Given the description of an element on the screen output the (x, y) to click on. 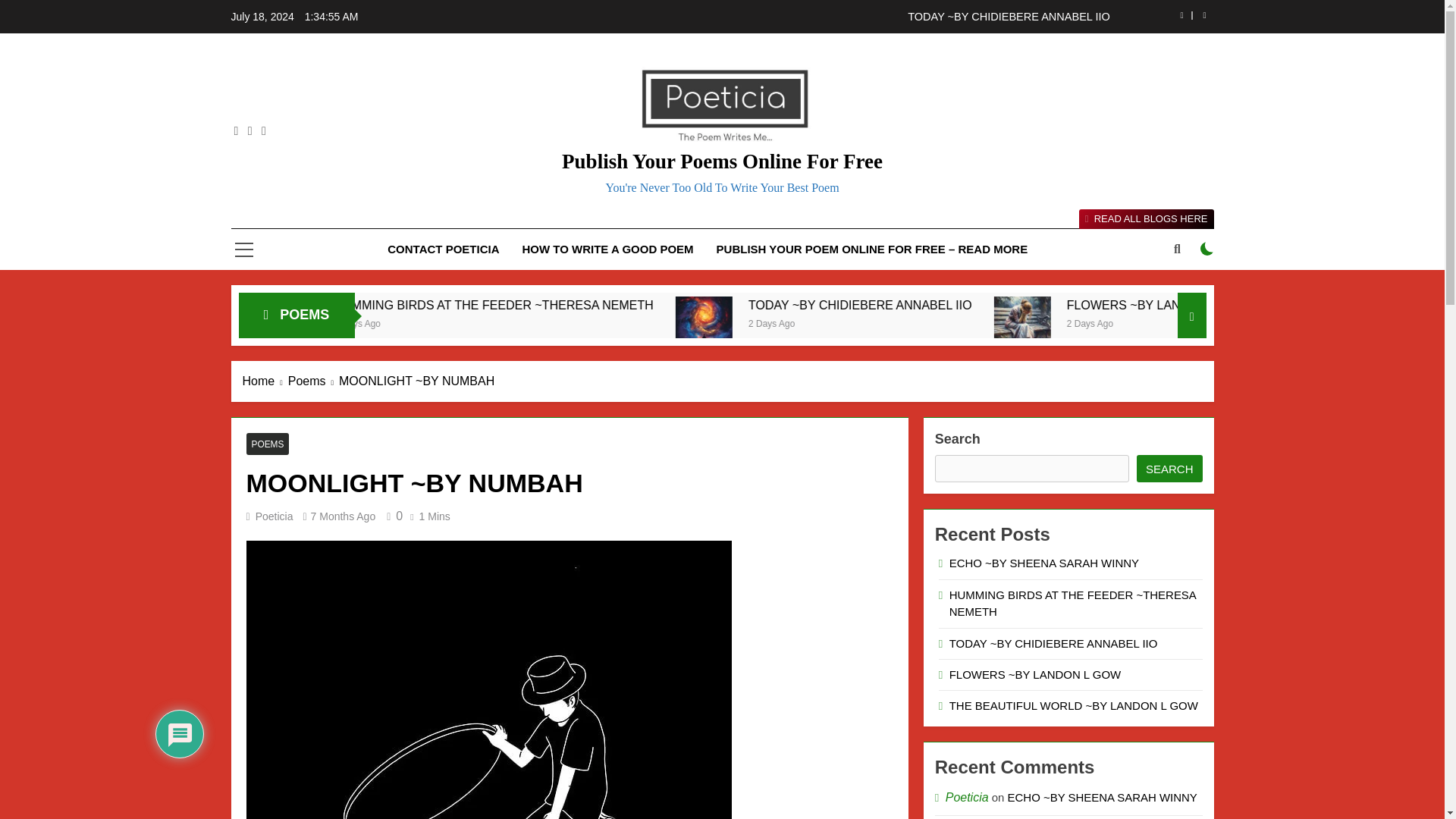
2 Days Ago (571, 322)
CONTACT POETICIA (443, 249)
HOW TO WRITE A GOOD POEM (607, 249)
Publish Your Poems Online For Free (722, 160)
READ ALL BLOGS HERE (1145, 219)
2 Days Ago (979, 322)
on (1206, 248)
